Given the description of an element on the screen output the (x, y) to click on. 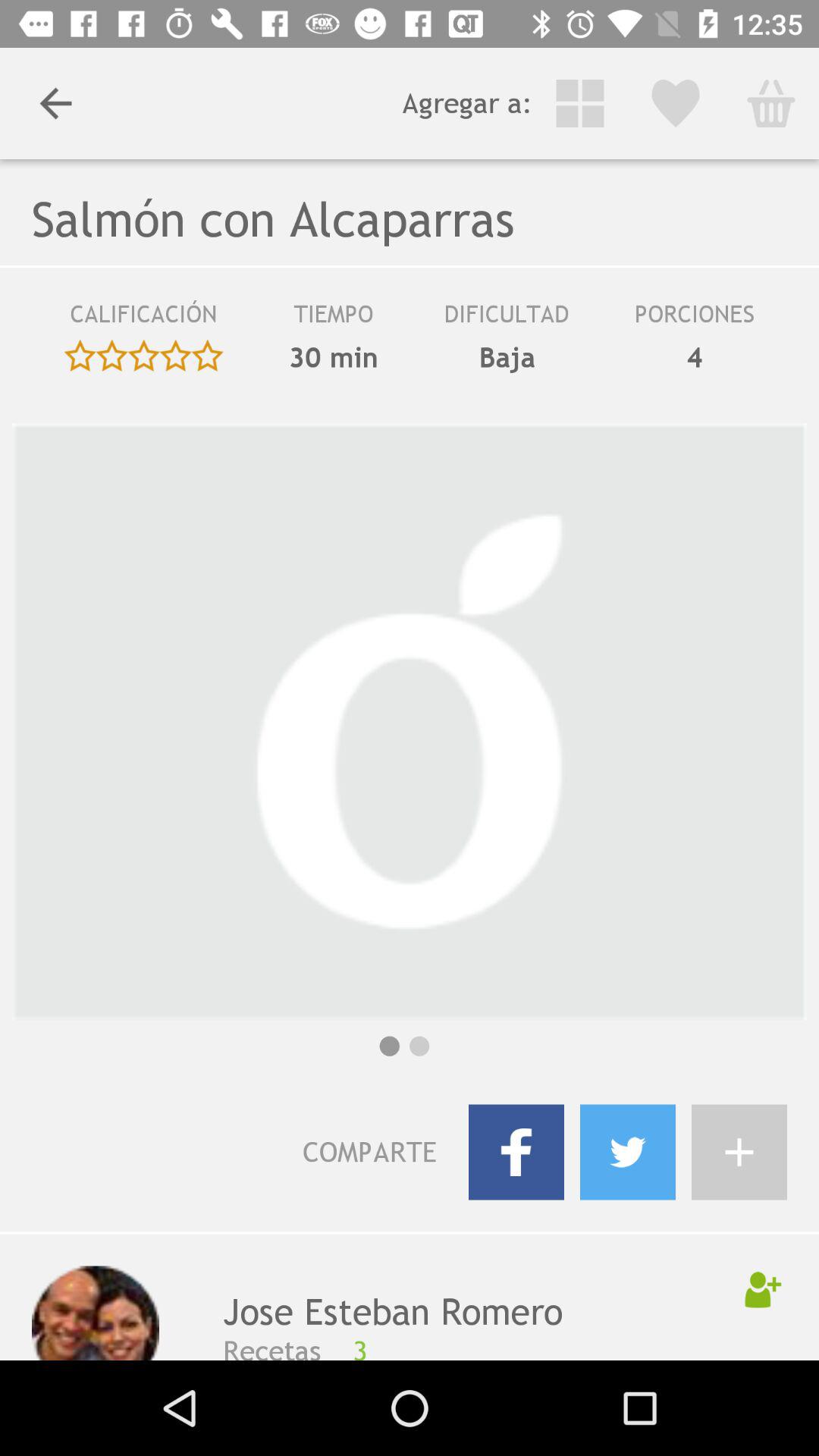
turn on item above baja (506, 319)
